Given the description of an element on the screen output the (x, y) to click on. 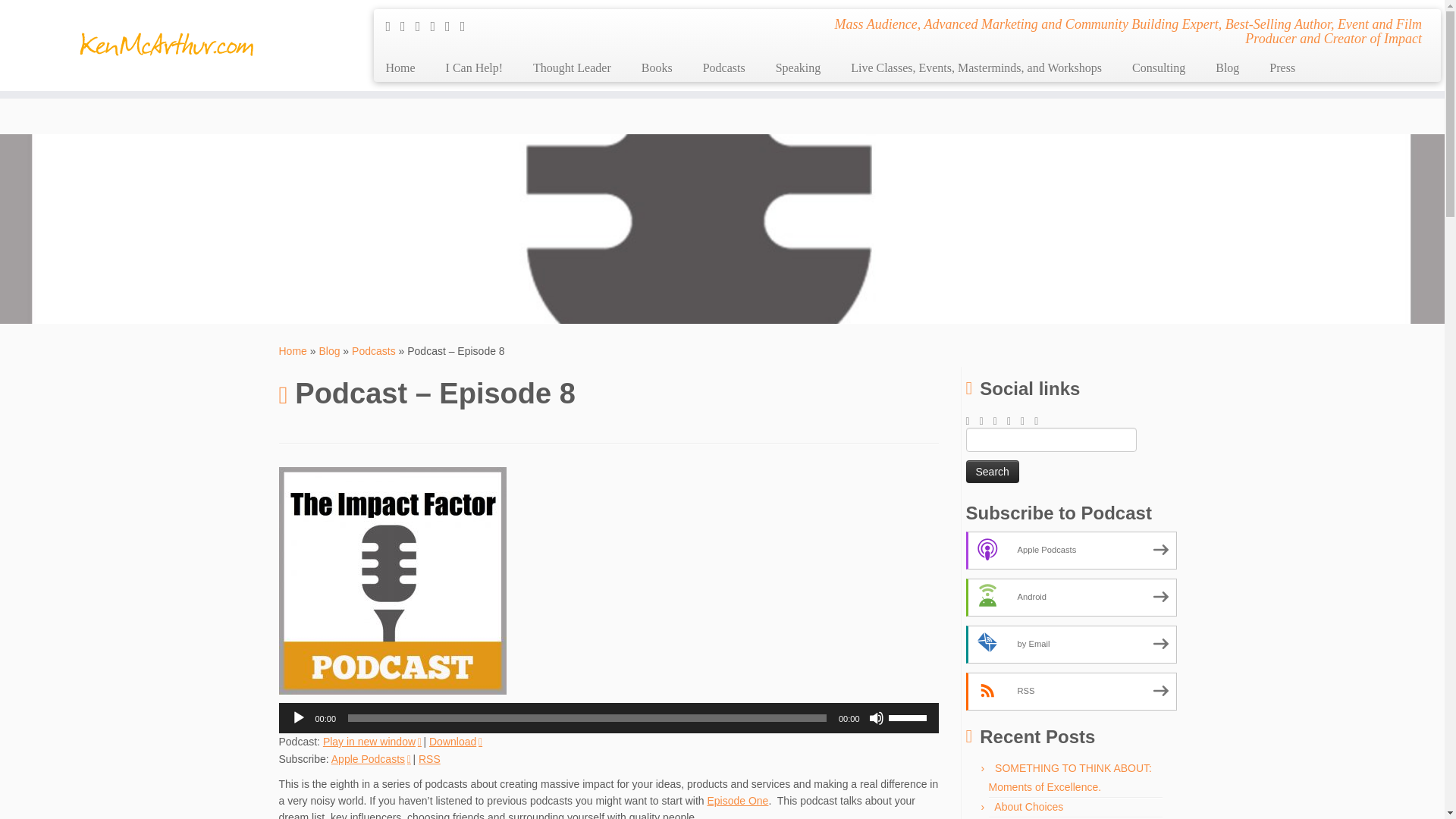
I Can Help! (474, 67)
Follow me on Facebook (422, 26)
Mute (876, 717)
Live Classes, Events, Masterminds, and Workshops (975, 67)
Podcasts (374, 350)
Follow me on Twitter (407, 26)
Podcasts (374, 350)
Home (293, 350)
Play (298, 717)
Thought Leader (572, 67)
